Given the description of an element on the screen output the (x, y) to click on. 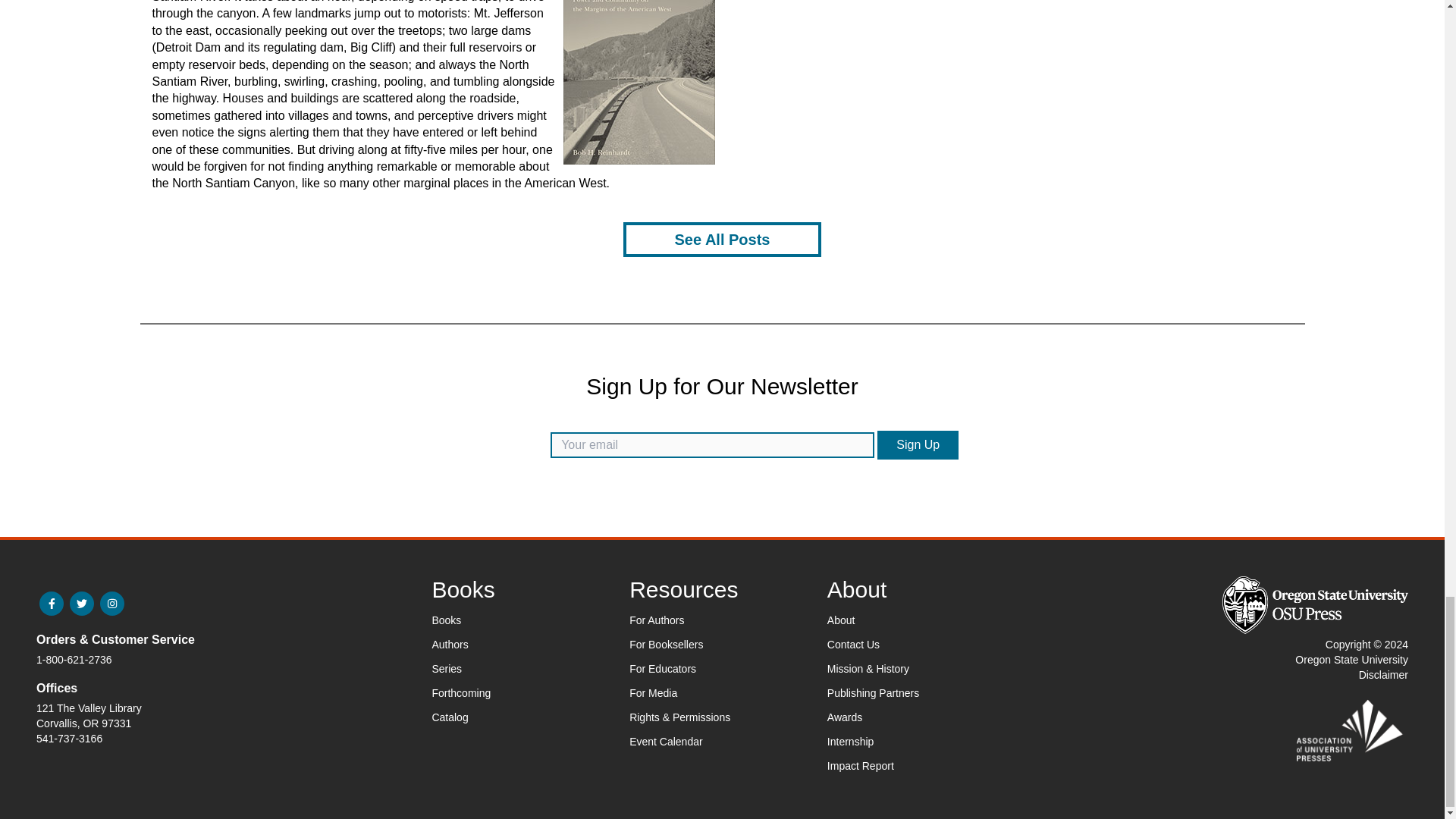
Impact Report (860, 766)
Sign Up (917, 444)
